Given the description of an element on the screen output the (x, y) to click on. 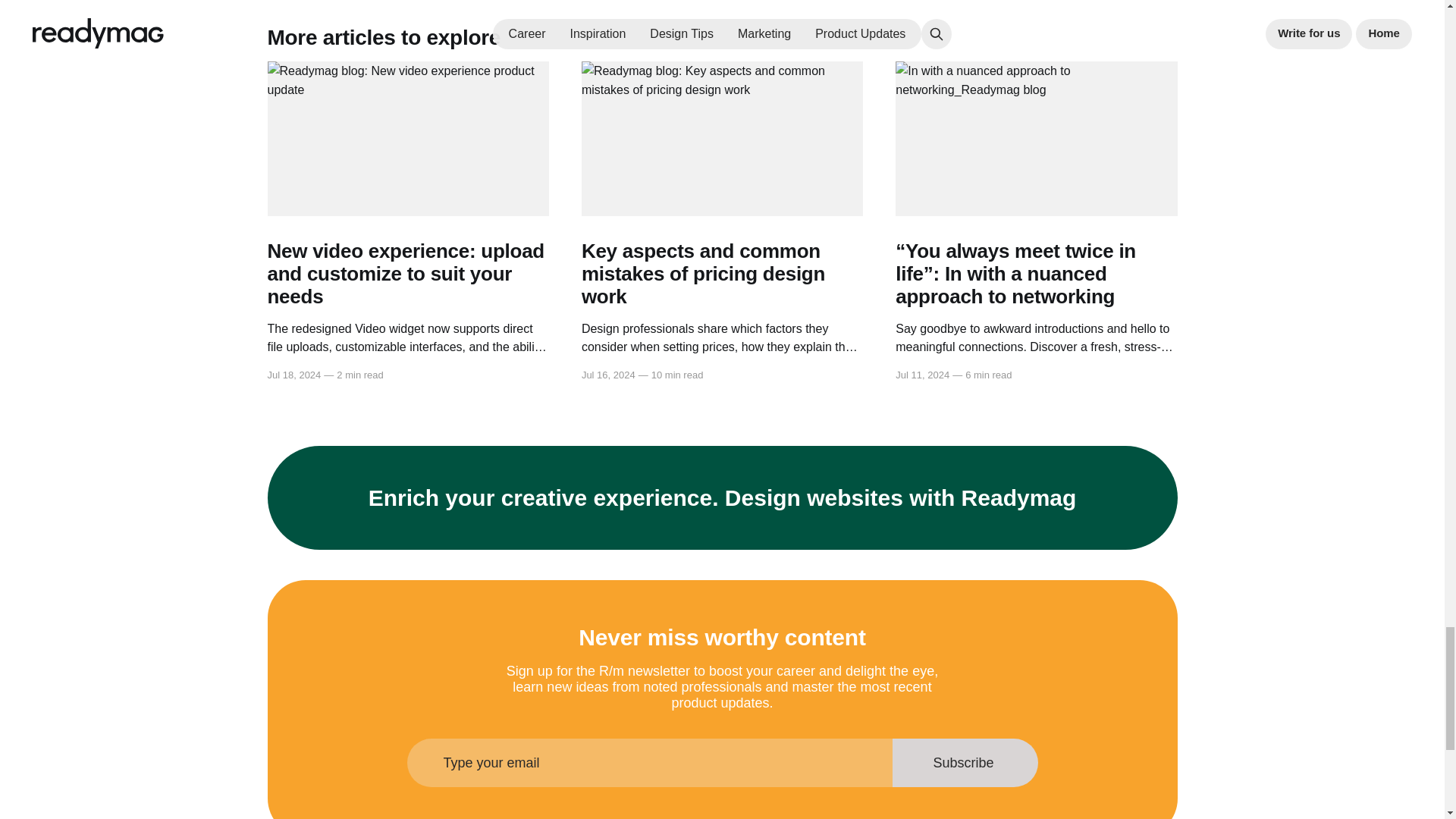
Subscribe (964, 762)
Subscribe (964, 762)
